Given the description of an element on the screen output the (x, y) to click on. 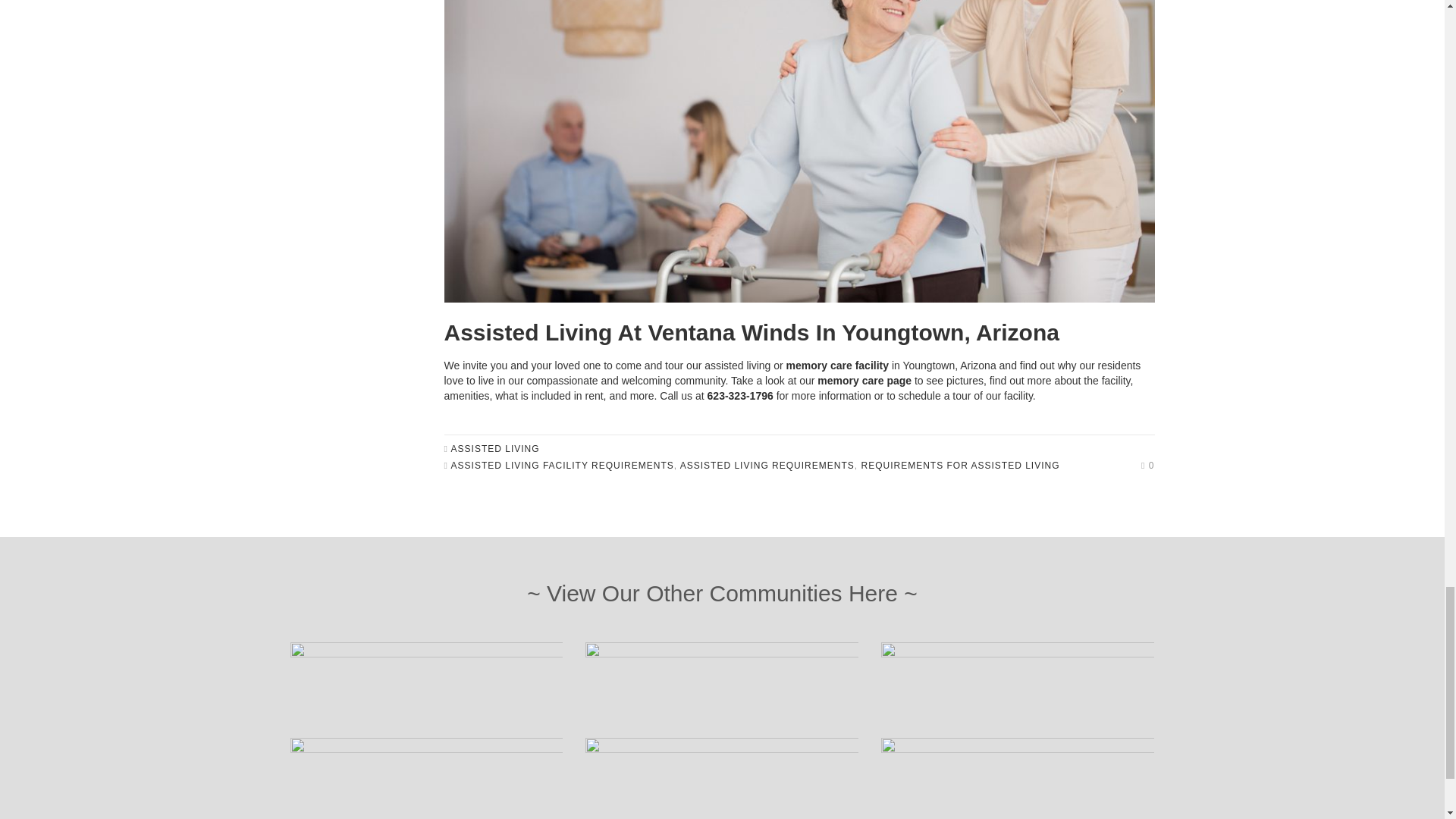
ASSISTED LIVING (495, 448)
REQUIREMENTS FOR ASSISTED LIVING (959, 465)
memory care facility (837, 365)
ASSISTED LIVING FACILITY REQUIREMENTS (562, 465)
ASSISTED LIVING REQUIREMENTS (766, 465)
623-323-1796 (740, 395)
memory care page (863, 380)
